Given the description of an element on the screen output the (x, y) to click on. 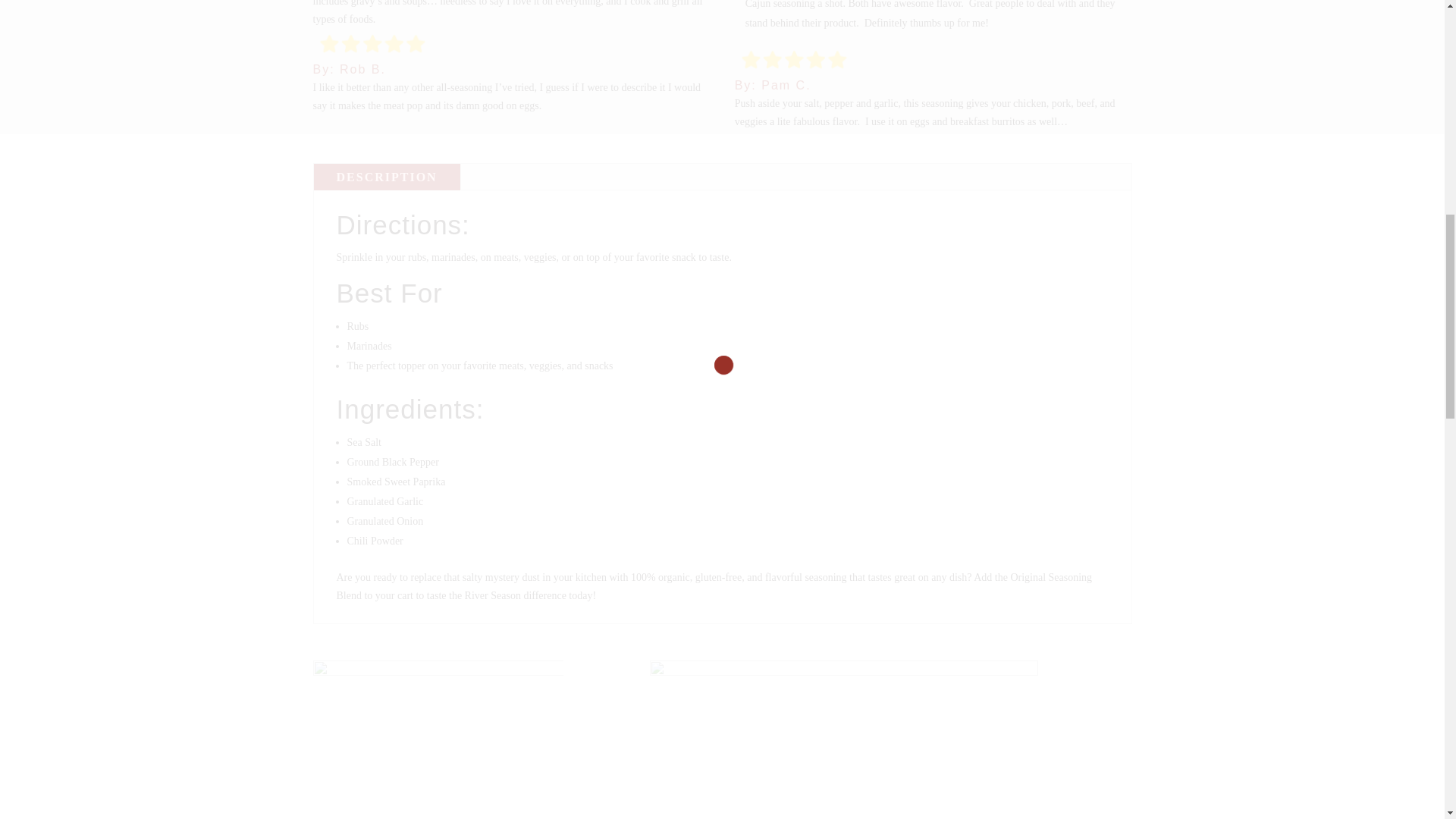
five-star-review (794, 60)
DESCRIPTION (387, 176)
five-star-review (371, 43)
viands-seasoning-promo-thumbnail (843, 739)
viands-season-guarantee (437, 739)
